Given the description of an element on the screen output the (x, y) to click on. 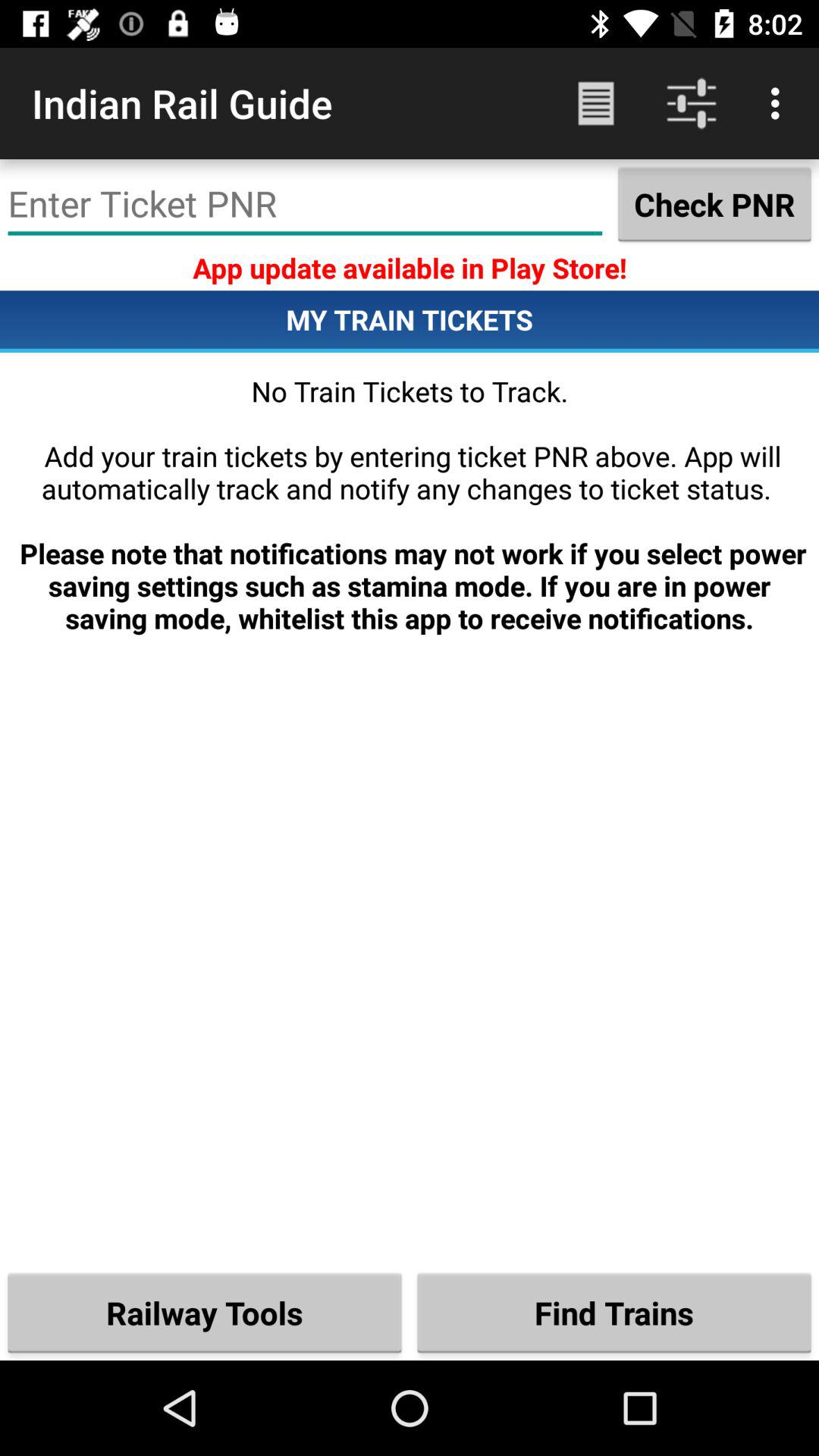
press icon next to the check pnr item (305, 204)
